Given the description of an element on the screen output the (x, y) to click on. 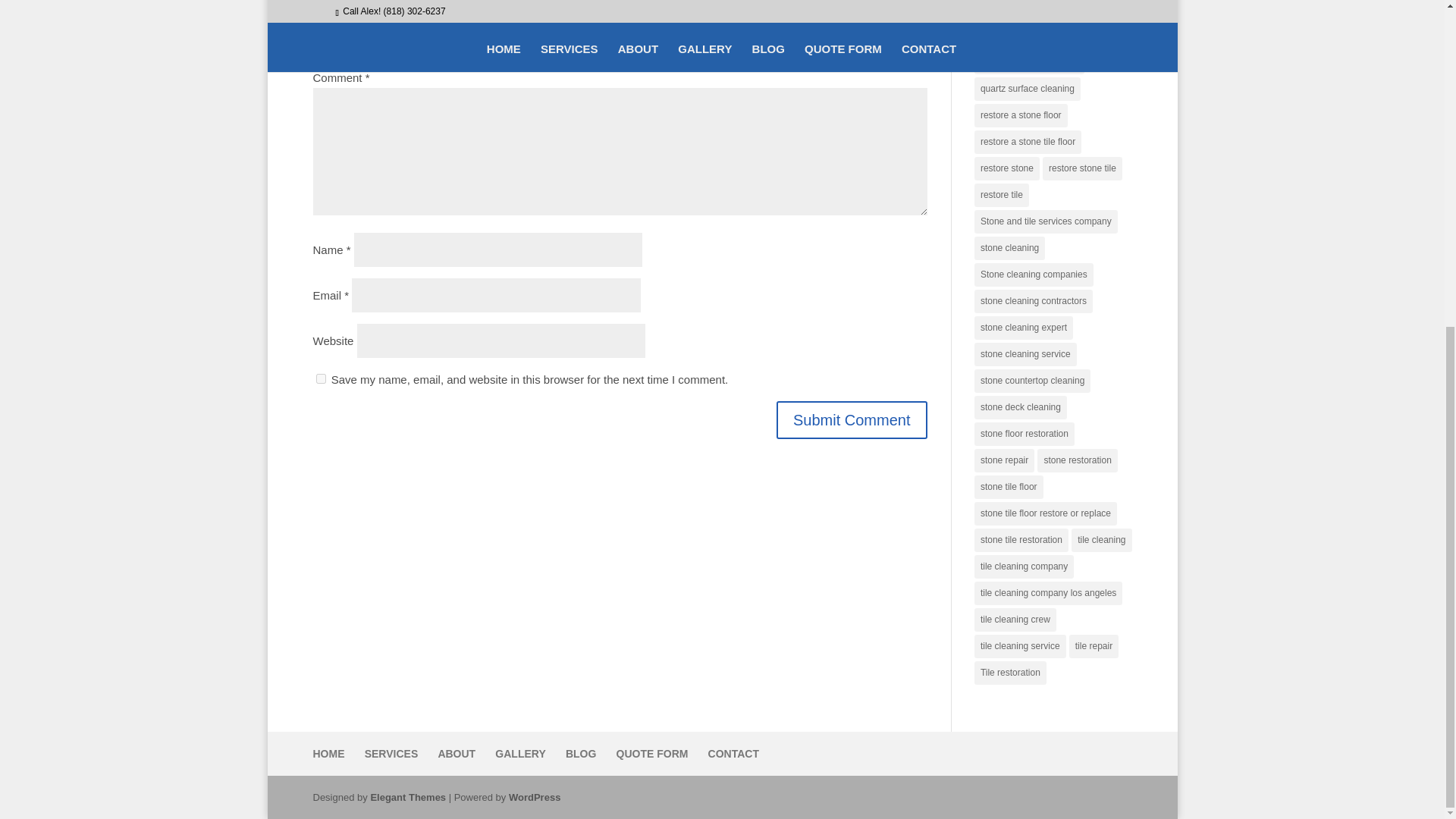
restore a stone tile floor (1027, 141)
restore a stone floor (1020, 115)
Submit Comment (851, 419)
Stone and tile services company (1046, 221)
quartz surface cleaning (1027, 88)
Premium WordPress Themes (407, 797)
yes (319, 378)
quartz cleaning services (1029, 62)
restore stone tile (1082, 168)
porcelain surfaces cleaning (1035, 10)
Submit Comment (851, 419)
restore tile (1001, 195)
restore stone (1006, 168)
porcelain tile professional cleaning (1049, 35)
